Given the description of an element on the screen output the (x, y) to click on. 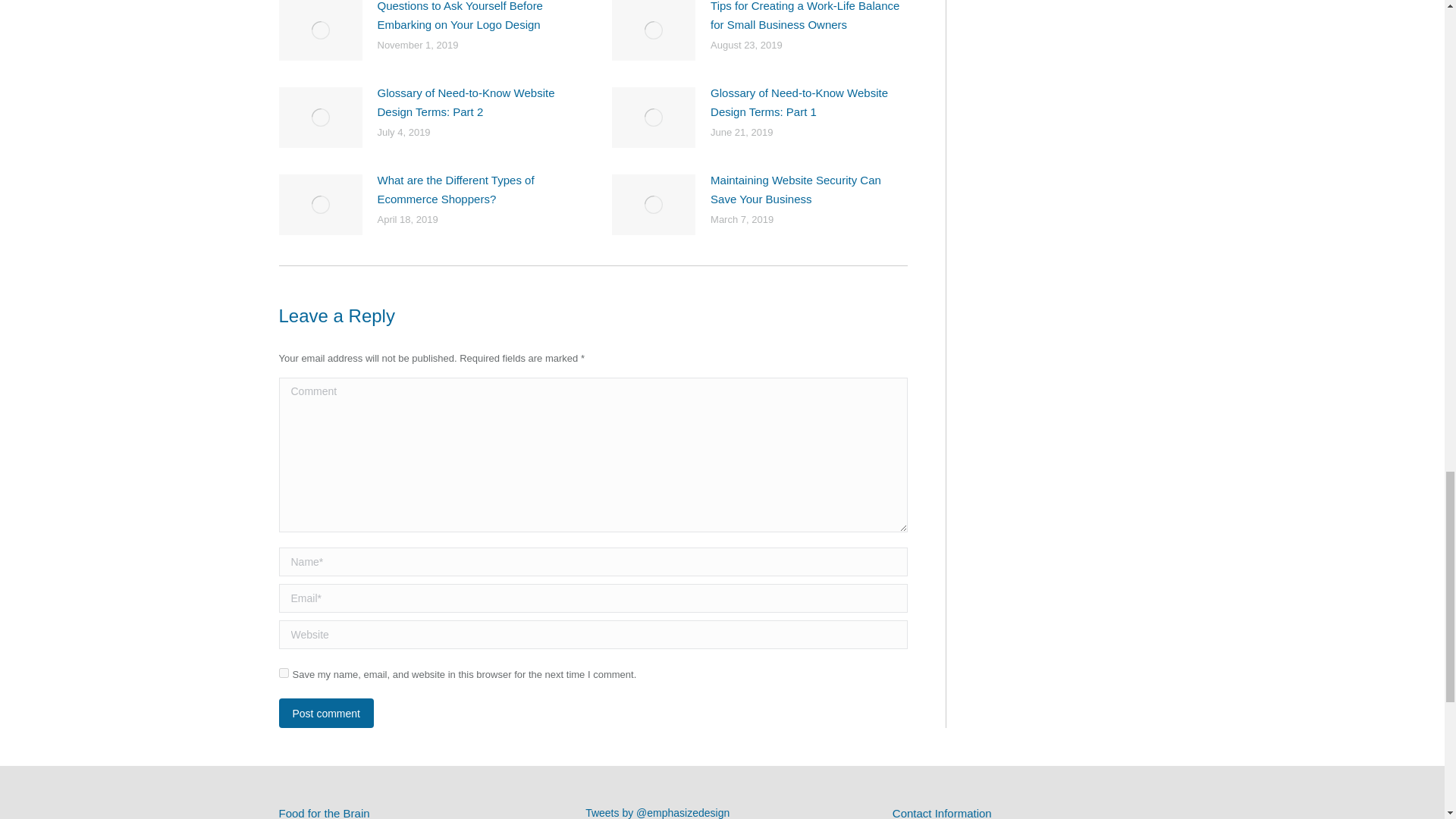
yes (283, 673)
